Given the description of an element on the screen output the (x, y) to click on. 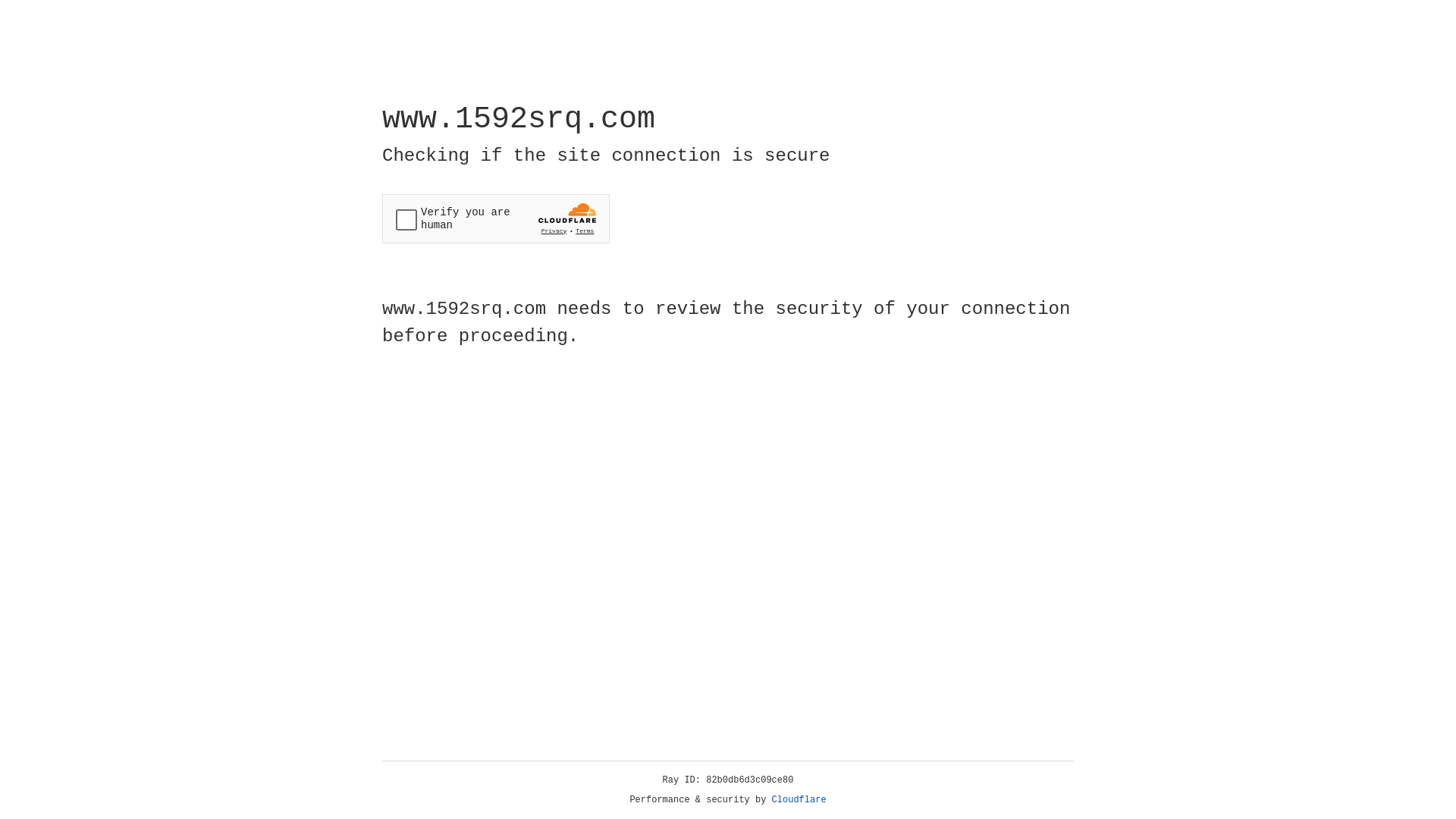
Widget containing a Cloudflare security challenge Element type: hover (495, 218)
Cloudflare Element type: text (798, 799)
